Given the description of an element on the screen output the (x, y) to click on. 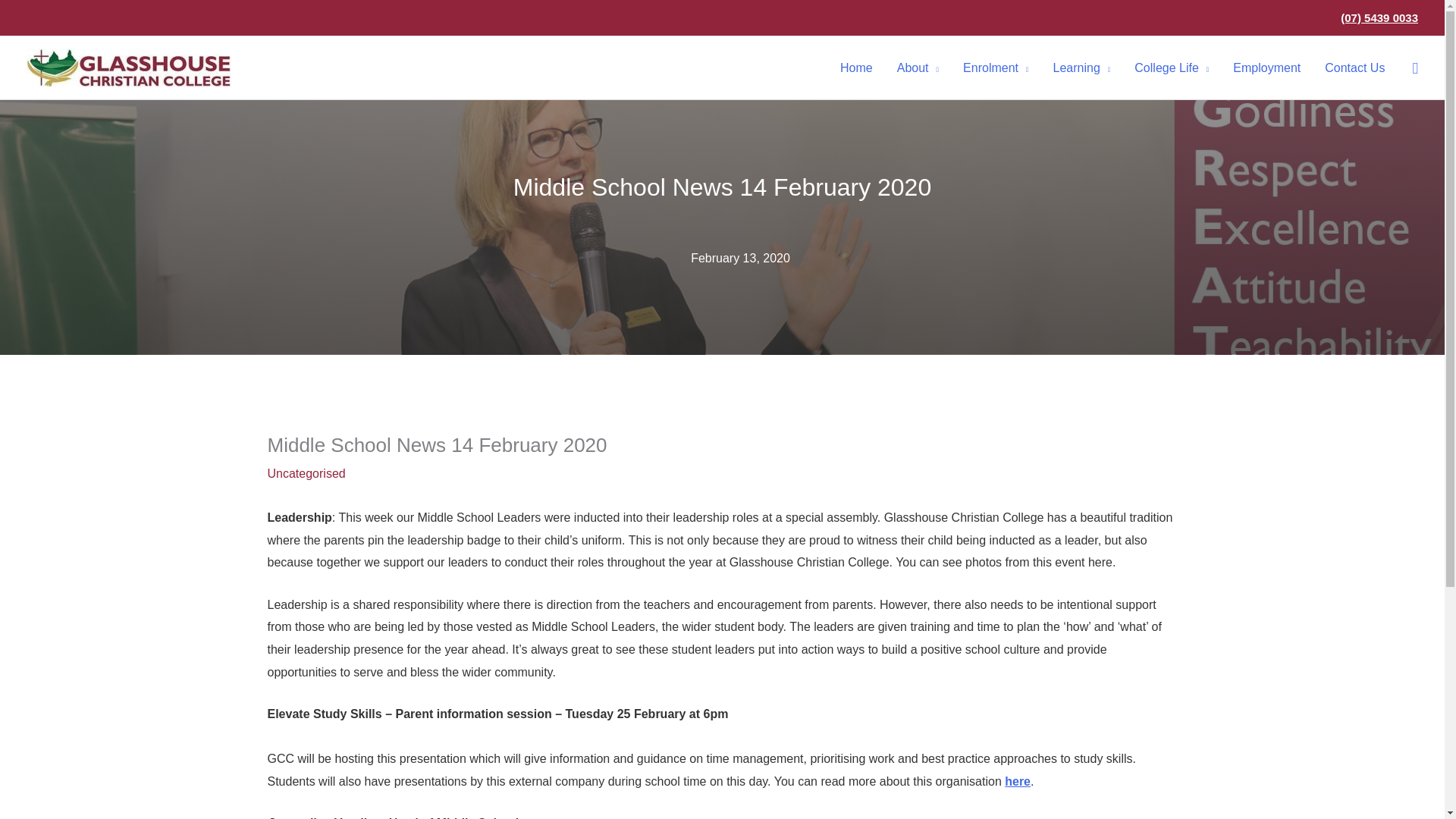
College Life (1171, 67)
Enrolment (995, 67)
Learning (1081, 67)
Home (856, 67)
Employment (1267, 67)
About (917, 67)
